Given the description of an element on the screen output the (x, y) to click on. 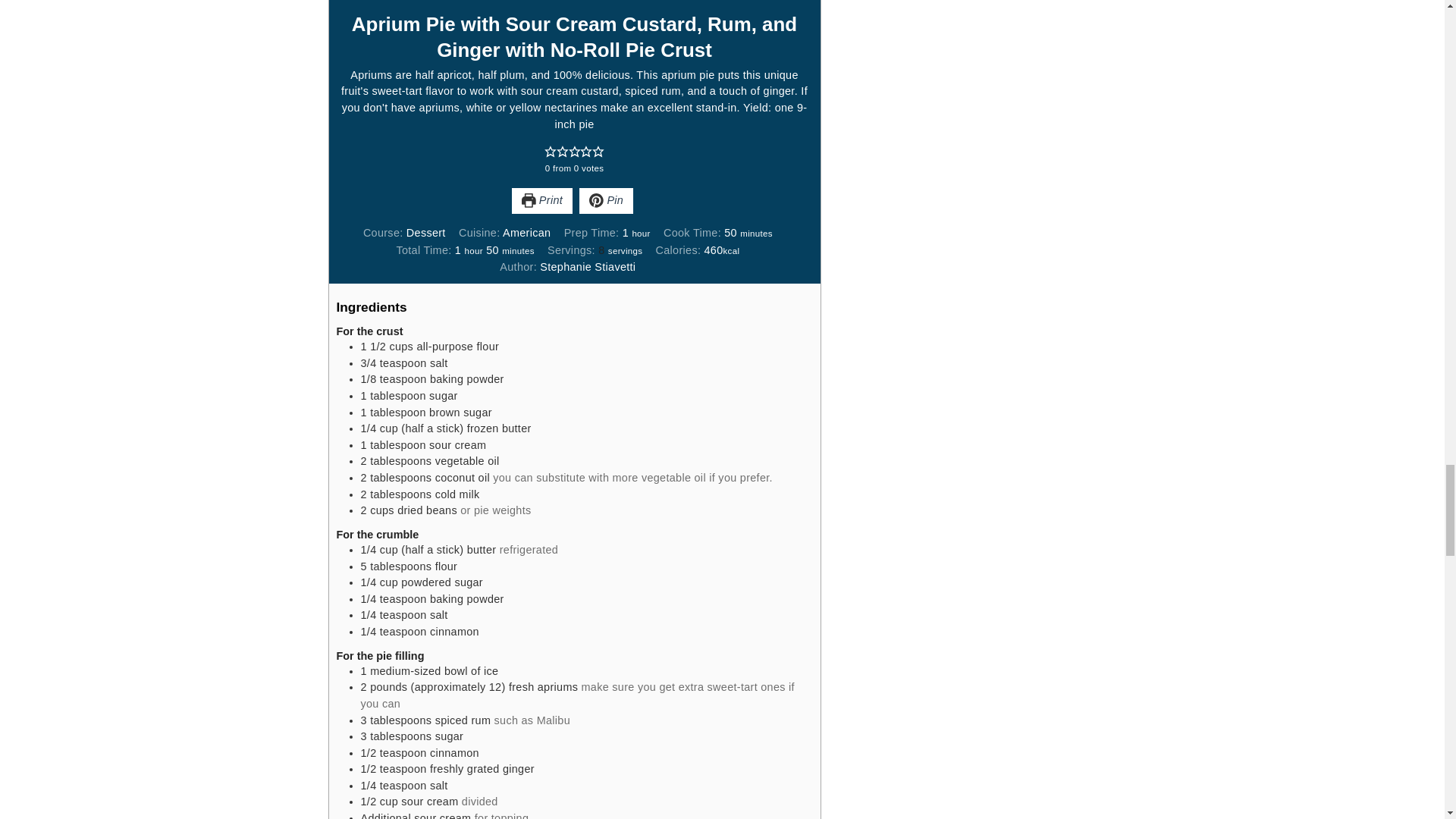
Pin (606, 200)
Print (542, 200)
